Given the description of an element on the screen output the (x, y) to click on. 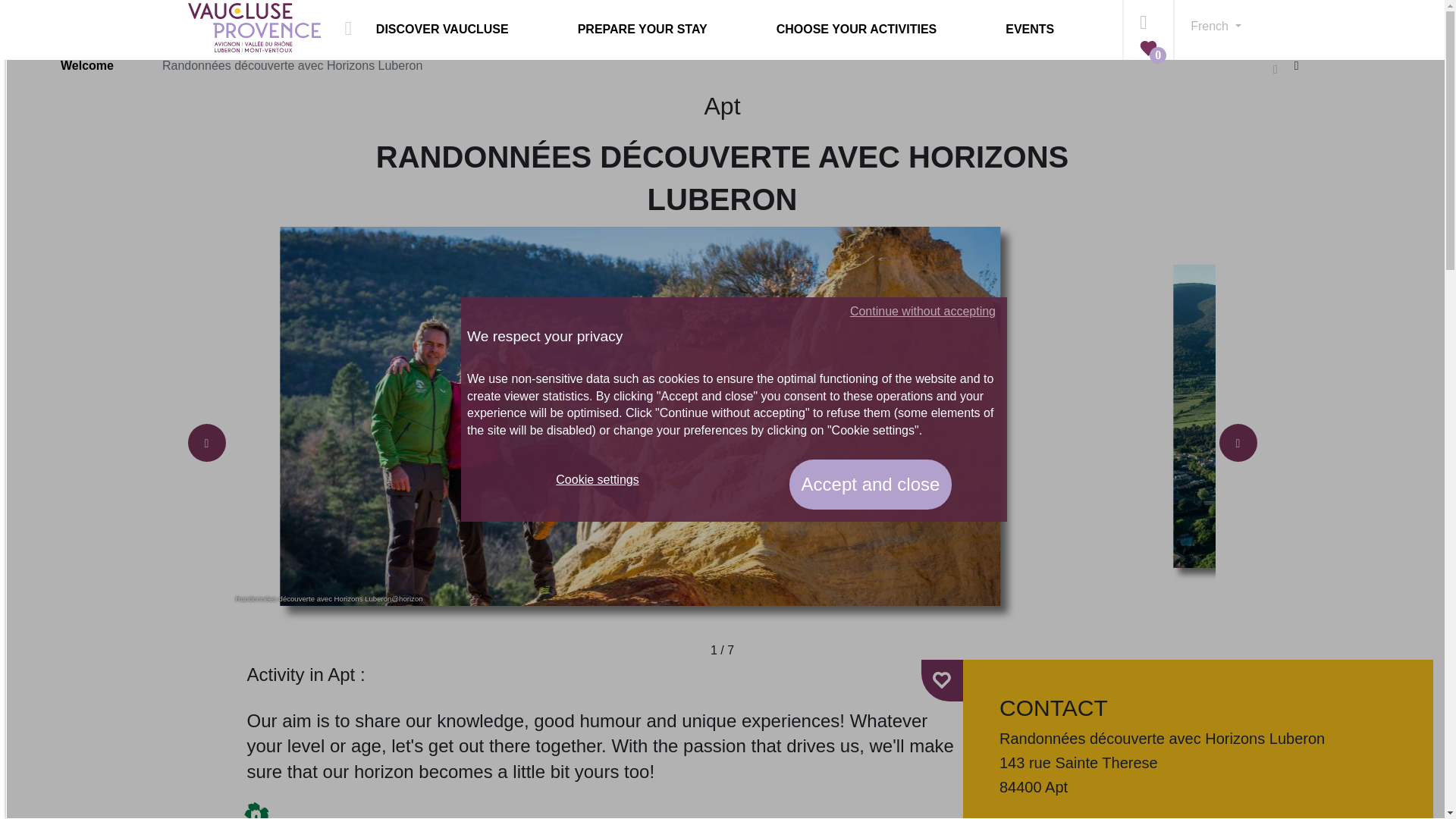
EVENTS (1058, 29)
DISCOVER VAUCLUSE (470, 29)
CHOOSE YOUR ACTIVITIES (885, 29)
Vineyards and Discovery Accreditation (255, 810)
PREPARE YOUR STAY (671, 29)
Accueil (87, 65)
Search (1148, 18)
